Given the description of an element on the screen output the (x, y) to click on. 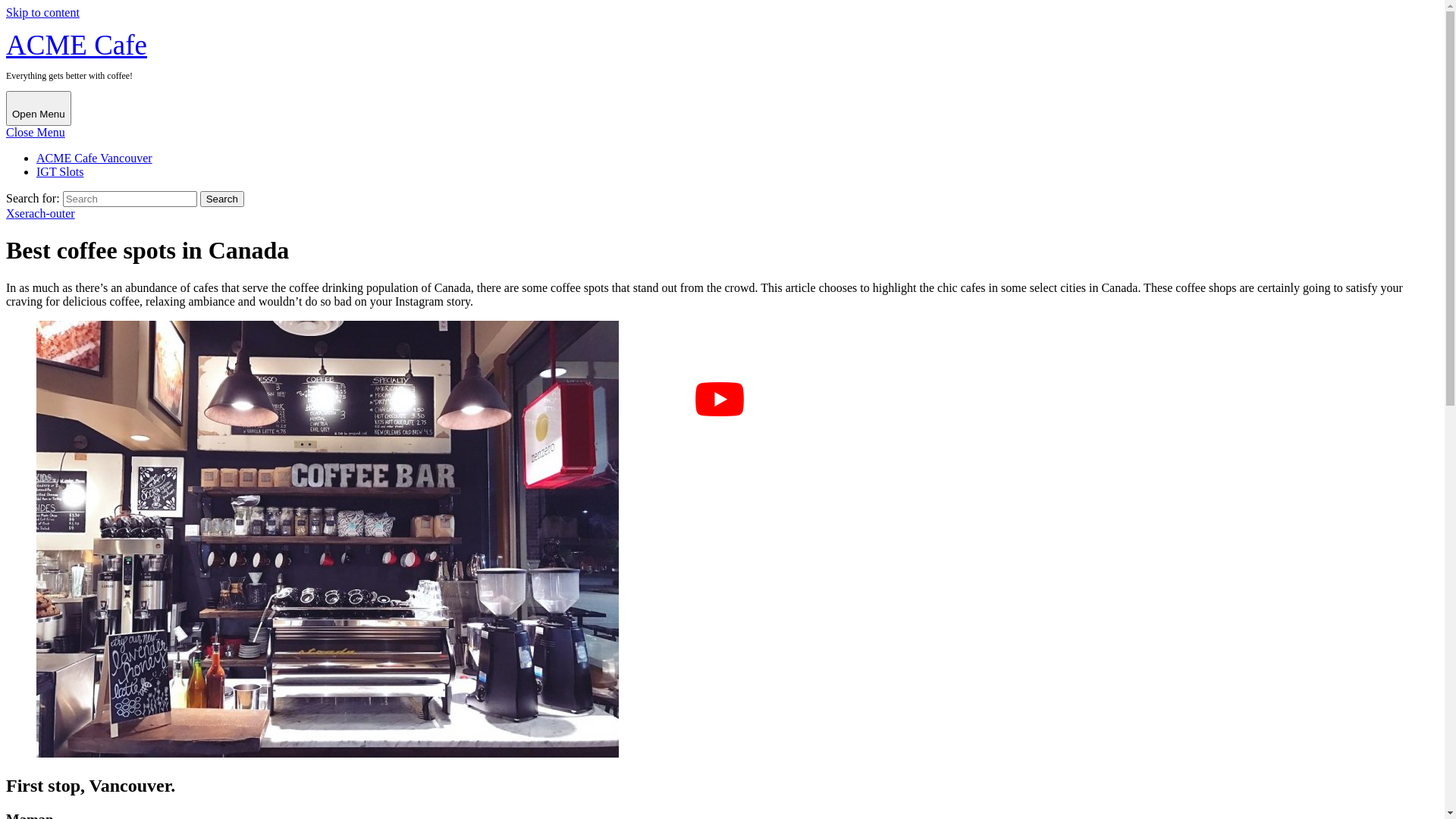
Search Element type: text (222, 199)
Skip to content Element type: text (42, 12)
ACME Cafe Element type: text (76, 44)
ACME Cafe Vancouver Element type: text (94, 157)
Xserach-outer Element type: text (40, 213)
Close Menu Element type: text (35, 131)
Open Menu Element type: text (38, 108)
IGT Slots Element type: text (59, 171)
